Given the description of an element on the screen output the (x, y) to click on. 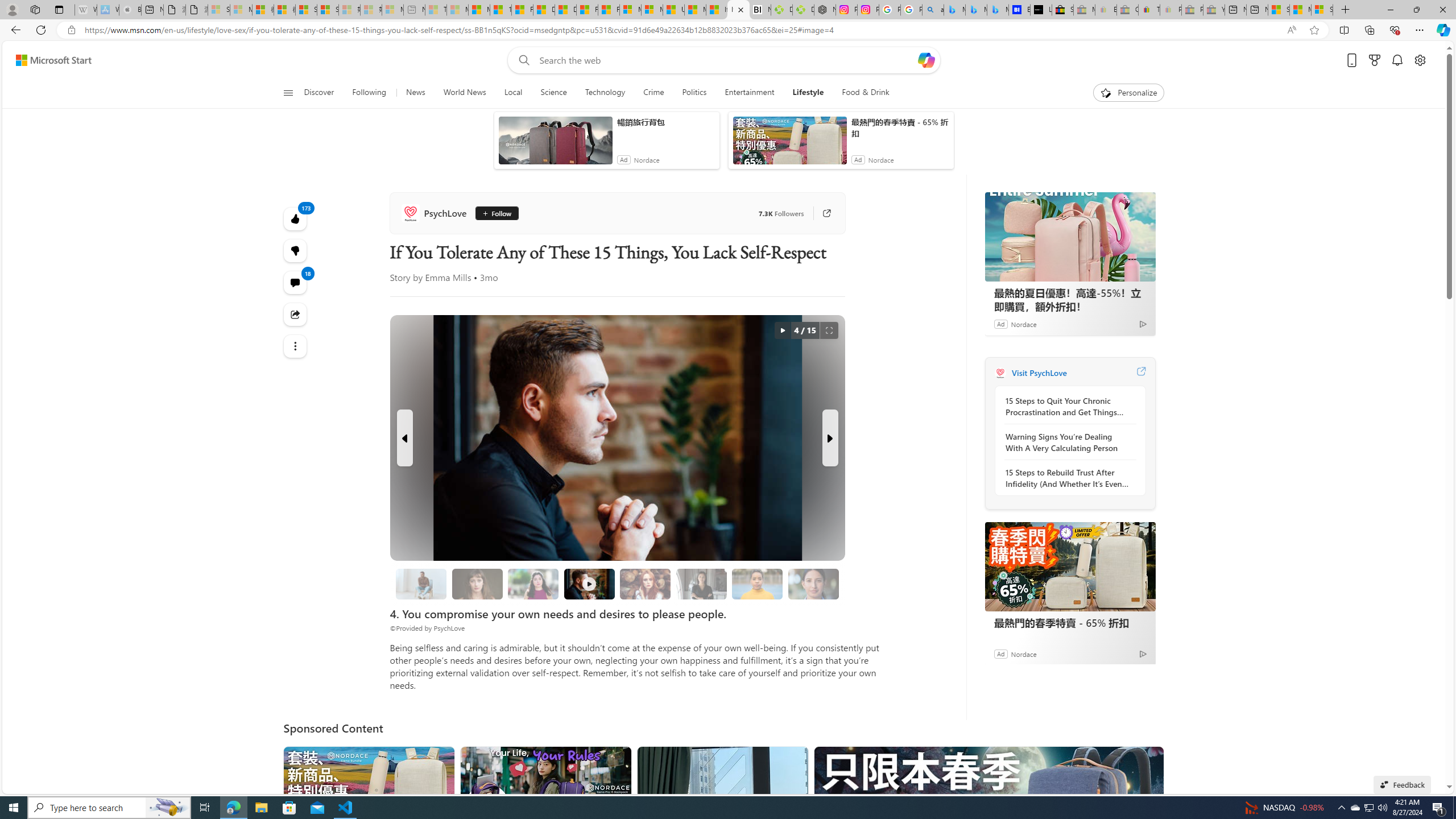
Top Stories - MSN - Sleeping (435, 9)
Press Room - eBay Inc. - Sleeping (1192, 9)
173 Like (295, 218)
Next Slide (829, 437)
3. Put some thought into it. (421, 583)
Microsoft Services Agreement - Sleeping (241, 9)
Shanghai, China hourly forecast | Microsoft Weather (1278, 9)
PsychLove (435, 212)
